Given the description of an element on the screen output the (x, y) to click on. 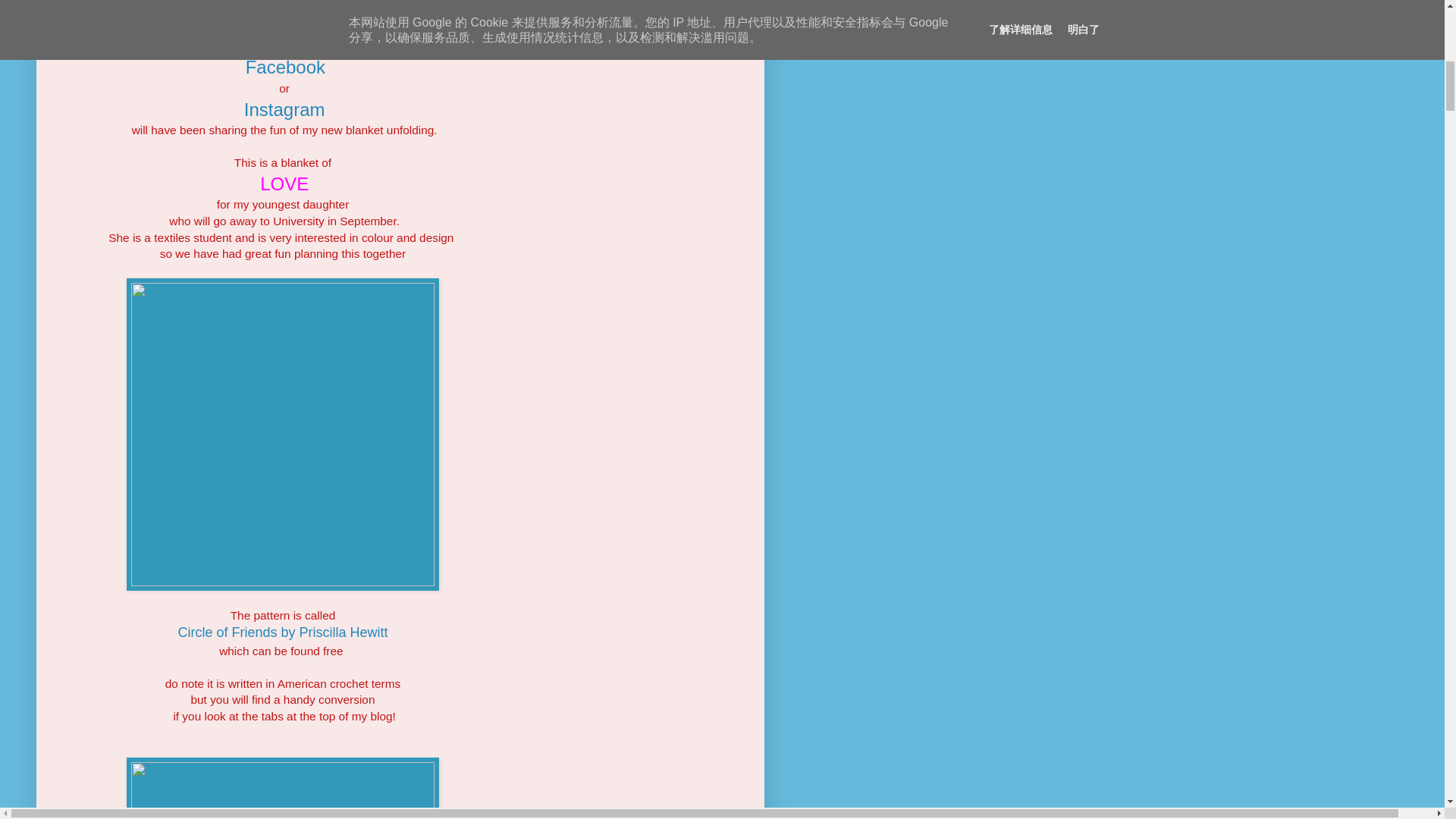
Facebook (285, 66)
Circle of Friends by Priscilla Hewitt (282, 631)
Instagram (284, 109)
